Given the description of an element on the screen output the (x, y) to click on. 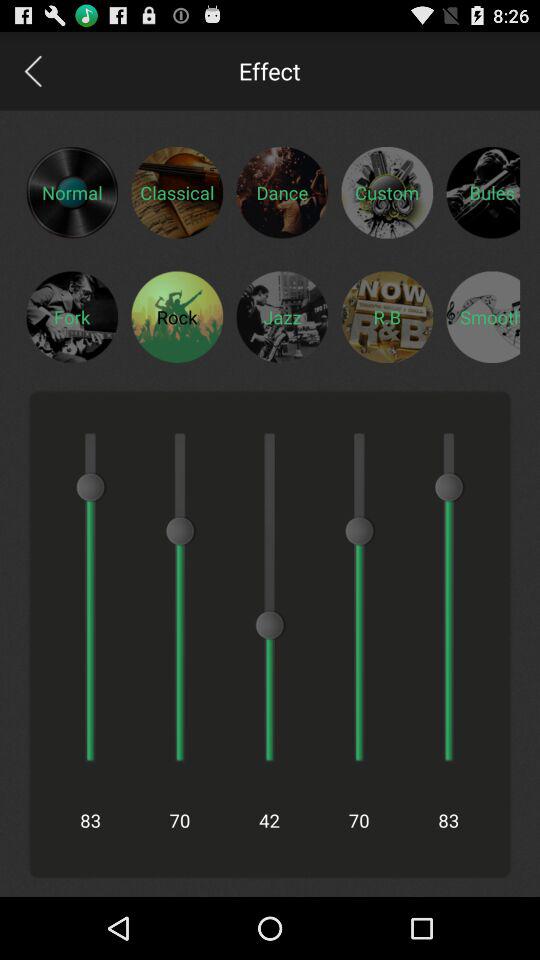
normal (72, 191)
